Given the description of an element on the screen output the (x, y) to click on. 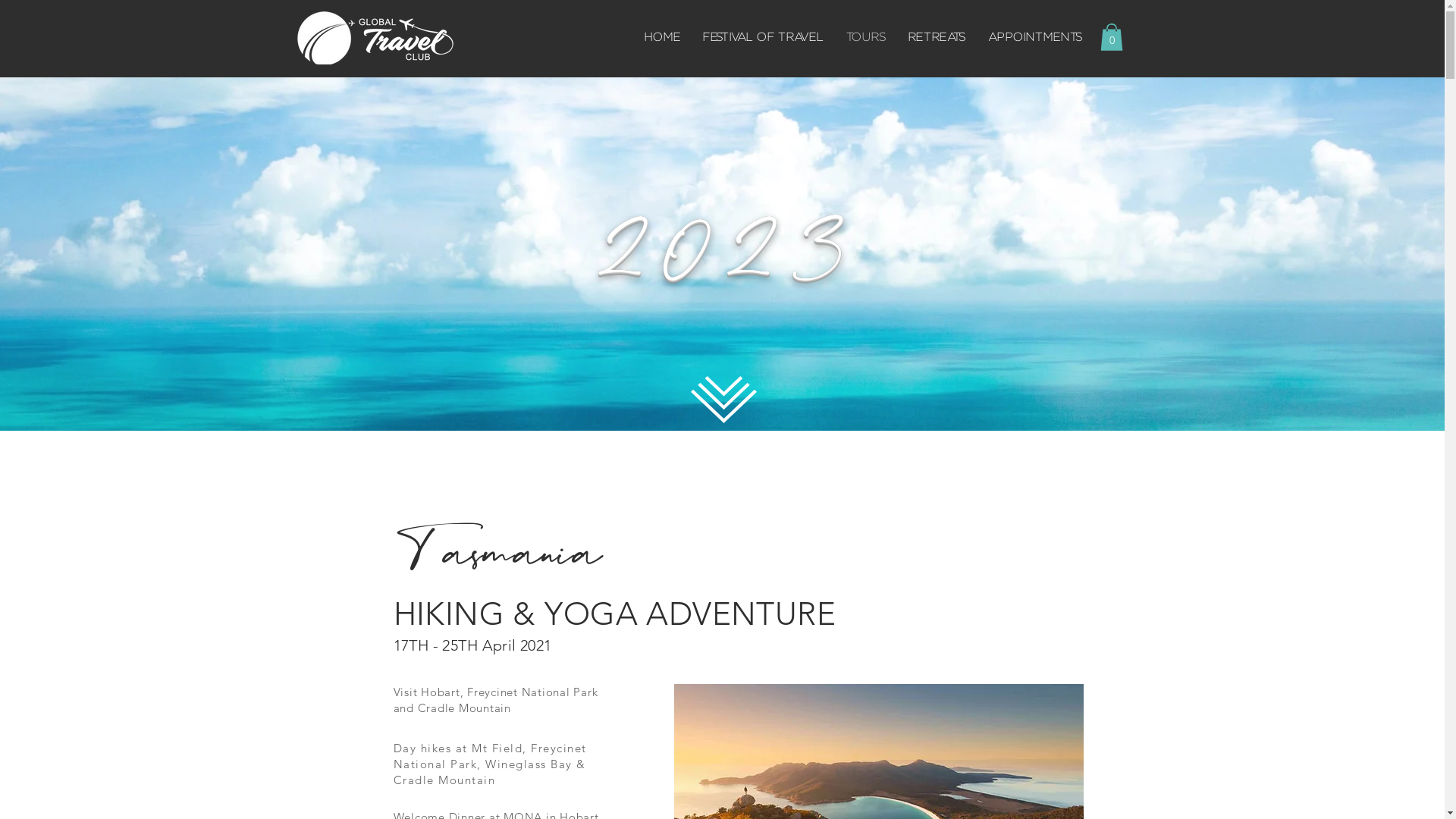
FESTIVAL OF TRAVEL Element type: text (762, 36)
HOME Element type: text (661, 36)
0 Element type: text (1110, 36)
TOURS Element type: text (865, 36)
APPOINTMENTS Element type: text (1034, 36)
RETREATS Element type: text (935, 36)
